Given the description of an element on the screen output the (x, y) to click on. 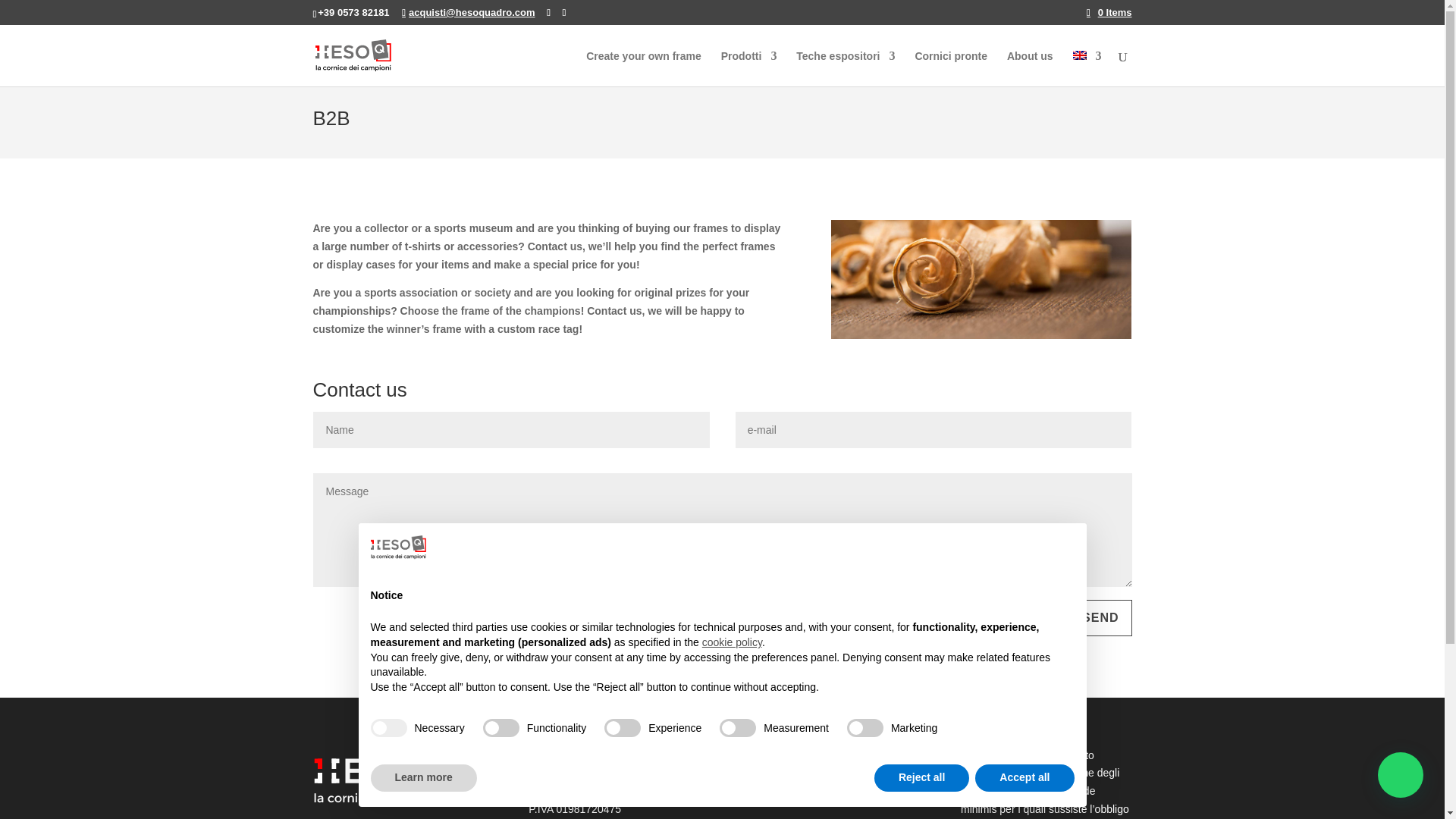
false (622, 728)
Teche espositori (845, 67)
false (737, 728)
Cornici pronte (950, 67)
0 Items (1109, 12)
false (501, 728)
About us (1029, 67)
true (387, 728)
false (865, 728)
Create your own frame (643, 67)
Prodotti (748, 67)
